Given the description of an element on the screen output the (x, y) to click on. 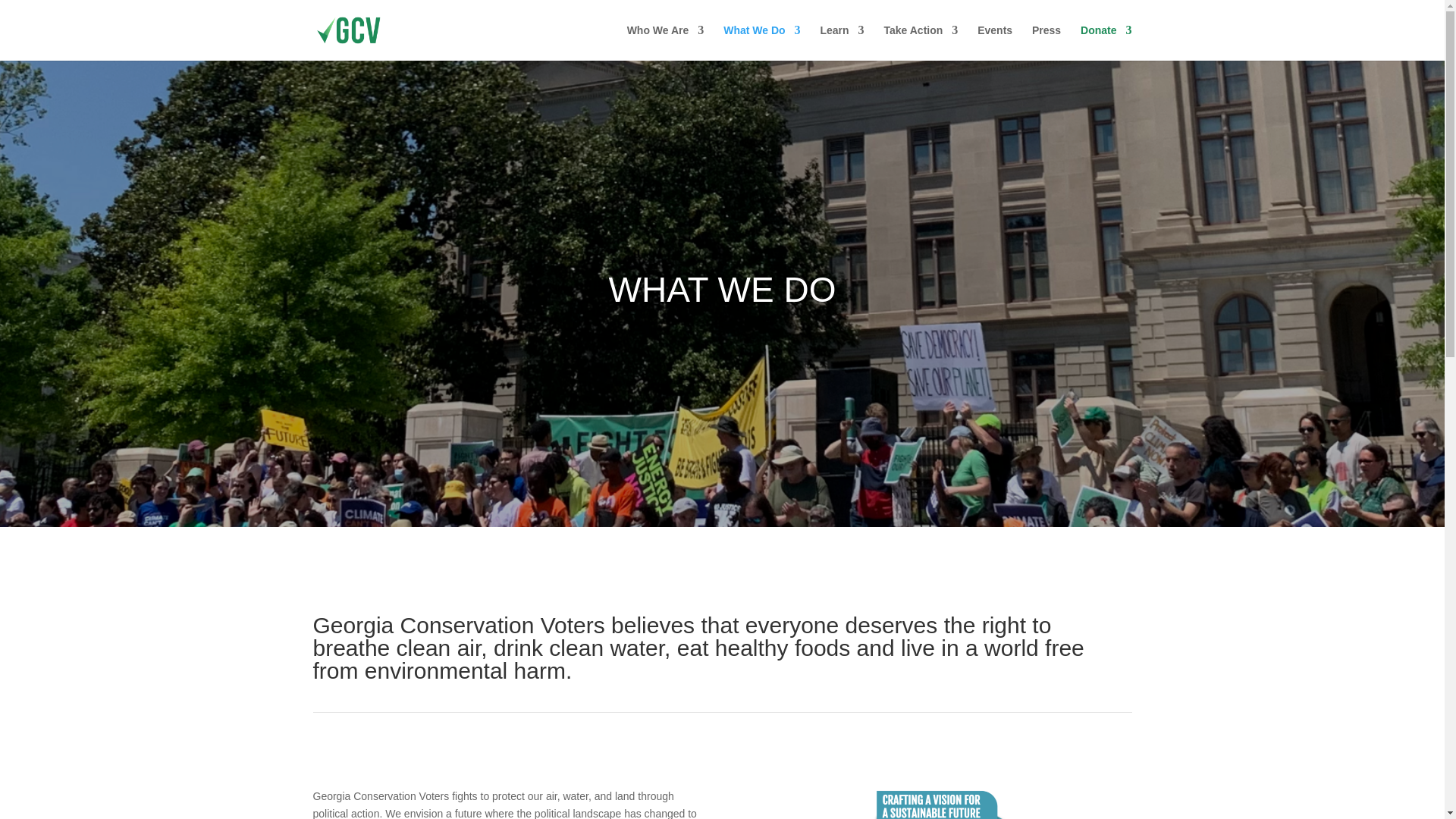
Take Action (920, 42)
What We Do (761, 42)
Events (993, 42)
Donate (1105, 42)
Who We Are (665, 42)
Learn (841, 42)
